Given the description of an element on the screen output the (x, y) to click on. 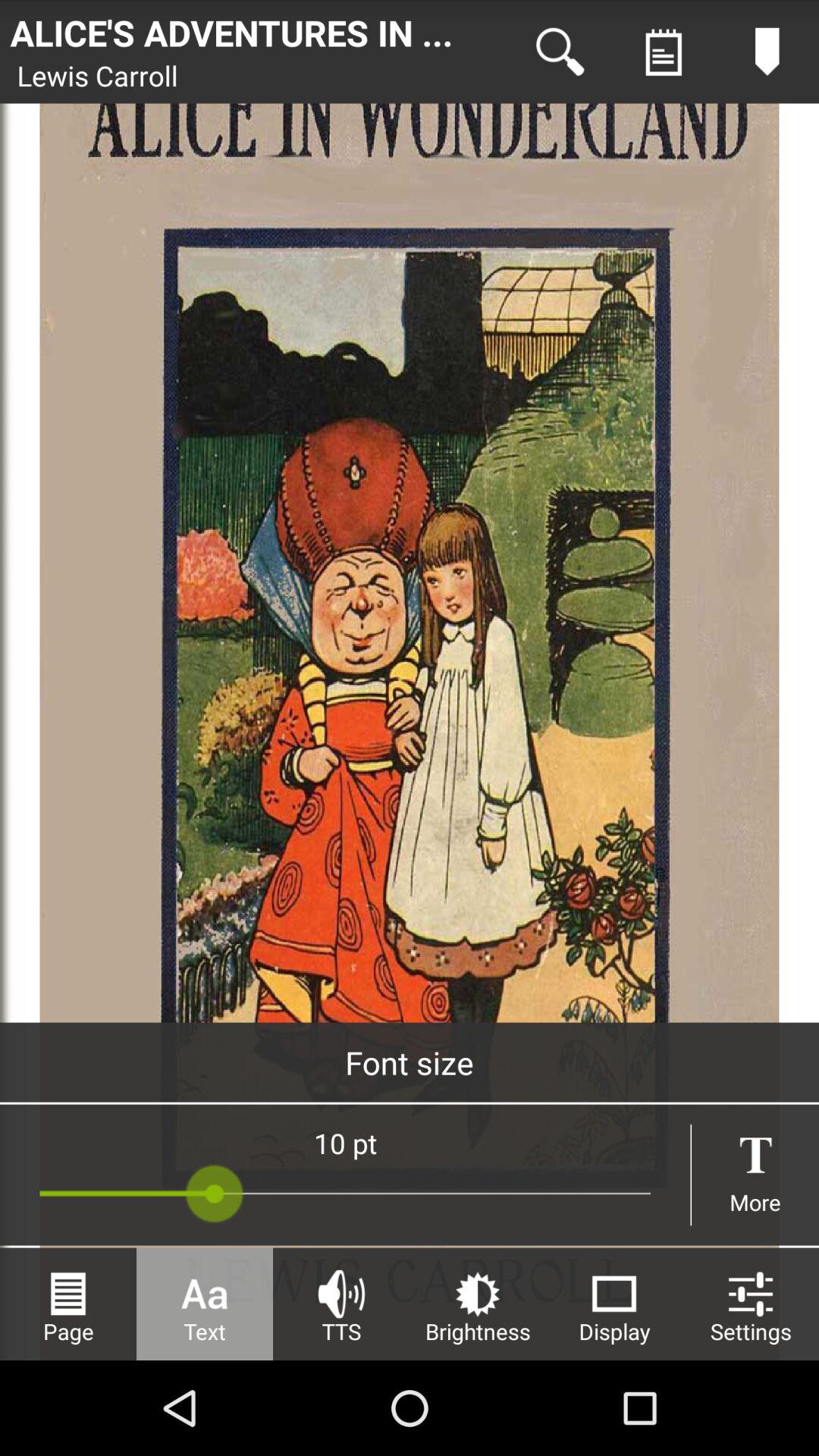
save content (767, 51)
